Given the description of an element on the screen output the (x, y) to click on. 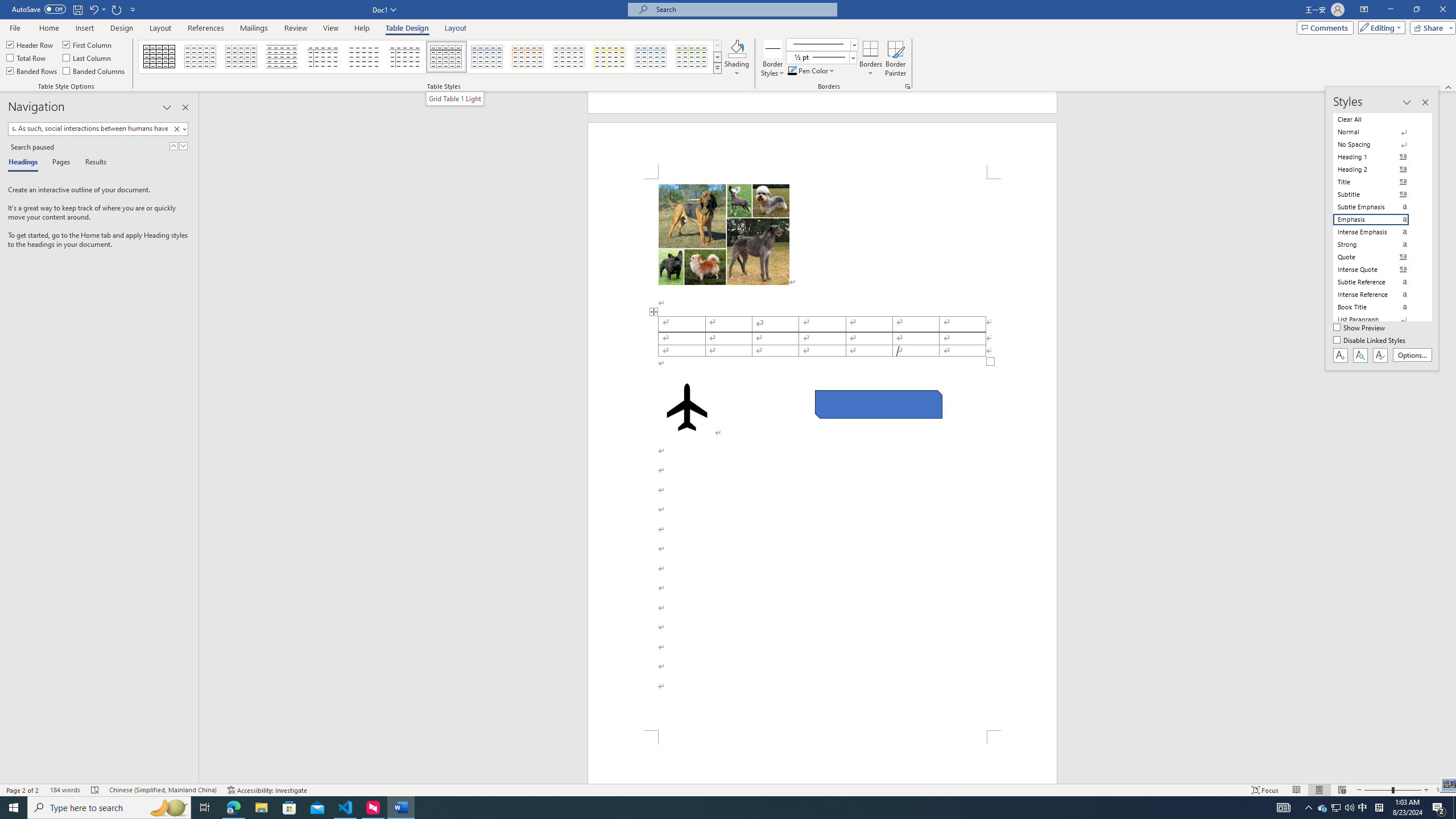
Clear All (1377, 119)
Table Styles (717, 67)
Banded Columns (94, 69)
Pen Weight (821, 56)
Page Number Page 2 of 2 (22, 790)
